Given the description of an element on the screen output the (x, y) to click on. 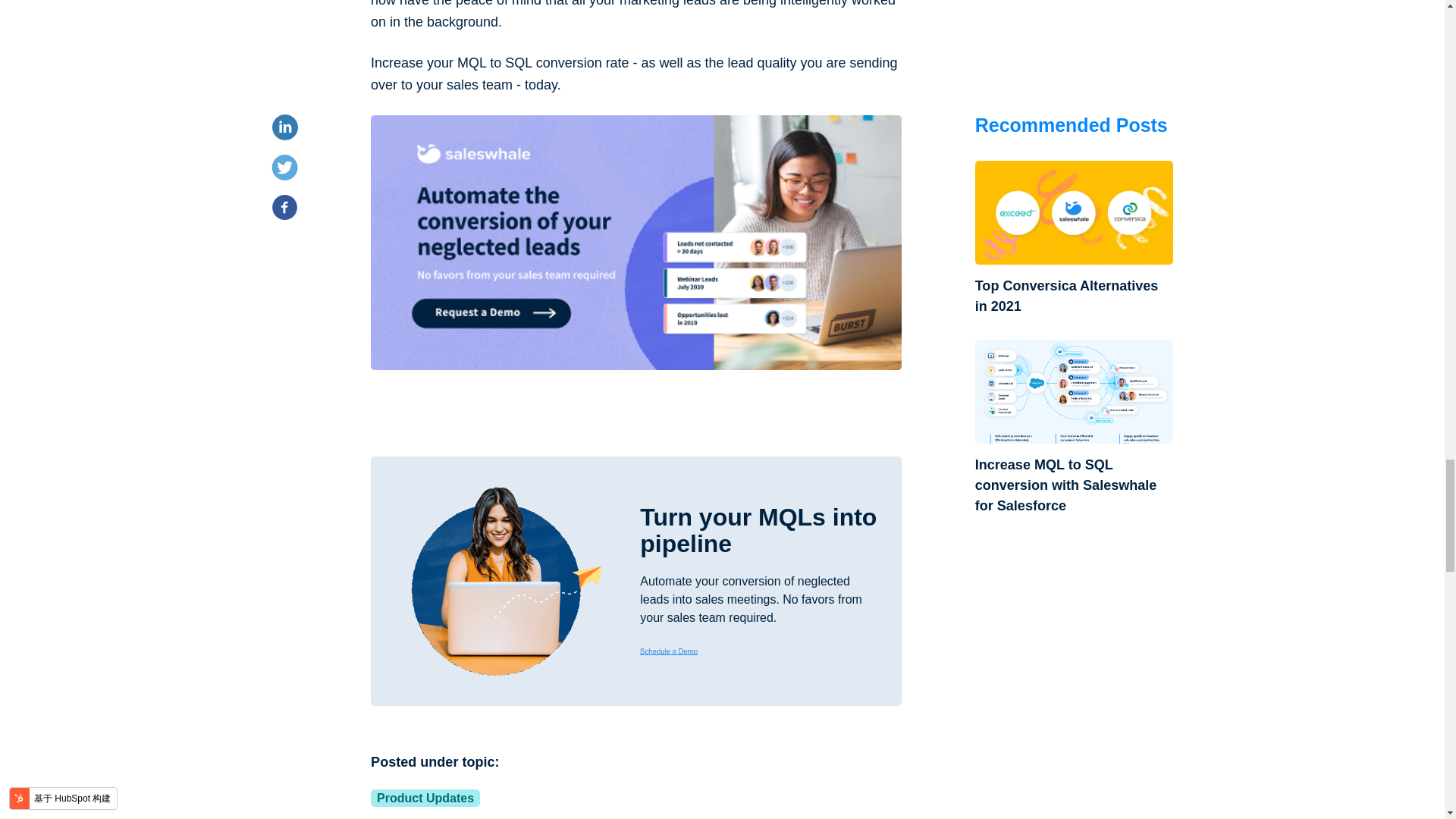
Product Updates (425, 797)
